Given the description of an element on the screen output the (x, y) to click on. 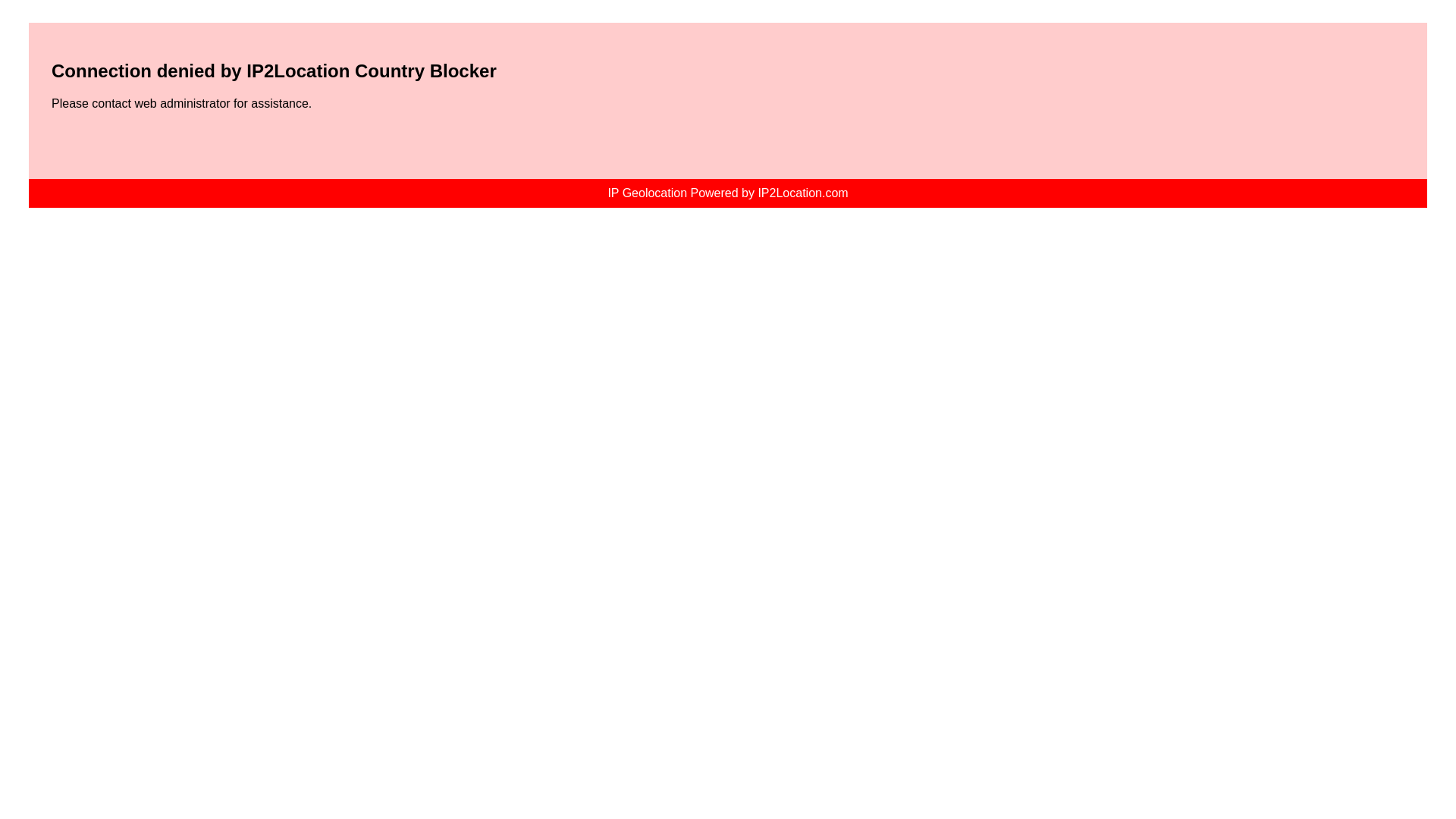
IP Geolocation Powered by IP2Location.com (727, 192)
